Given the description of an element on the screen output the (x, y) to click on. 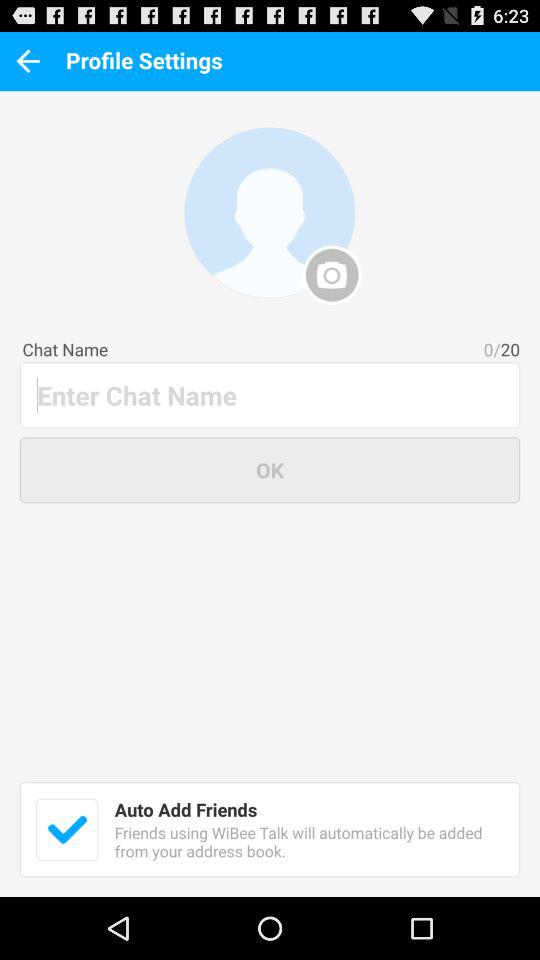
go to tick option (67, 829)
